Given the description of an element on the screen output the (x, y) to click on. 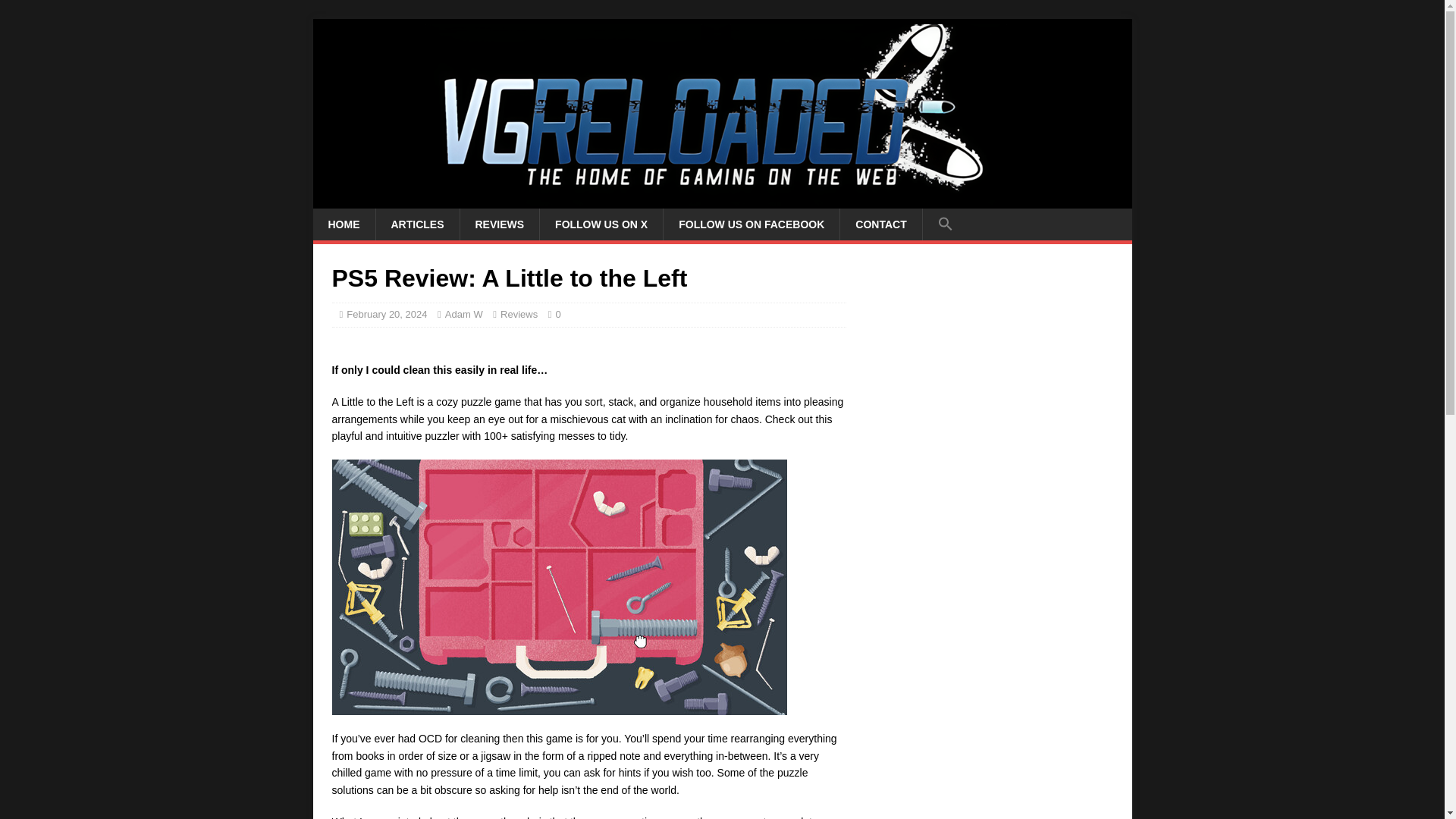
FOLLOW US ON X (600, 224)
REVIEWS (500, 224)
Reviews (518, 314)
FOLLOW US ON FACEBOOK (751, 224)
Video Games Reloaded (722, 200)
HOME (343, 224)
CONTACT (880, 224)
ARTICLES (416, 224)
February 20, 2024 (386, 314)
Adam W (464, 314)
